Given the description of an element on the screen output the (x, y) to click on. 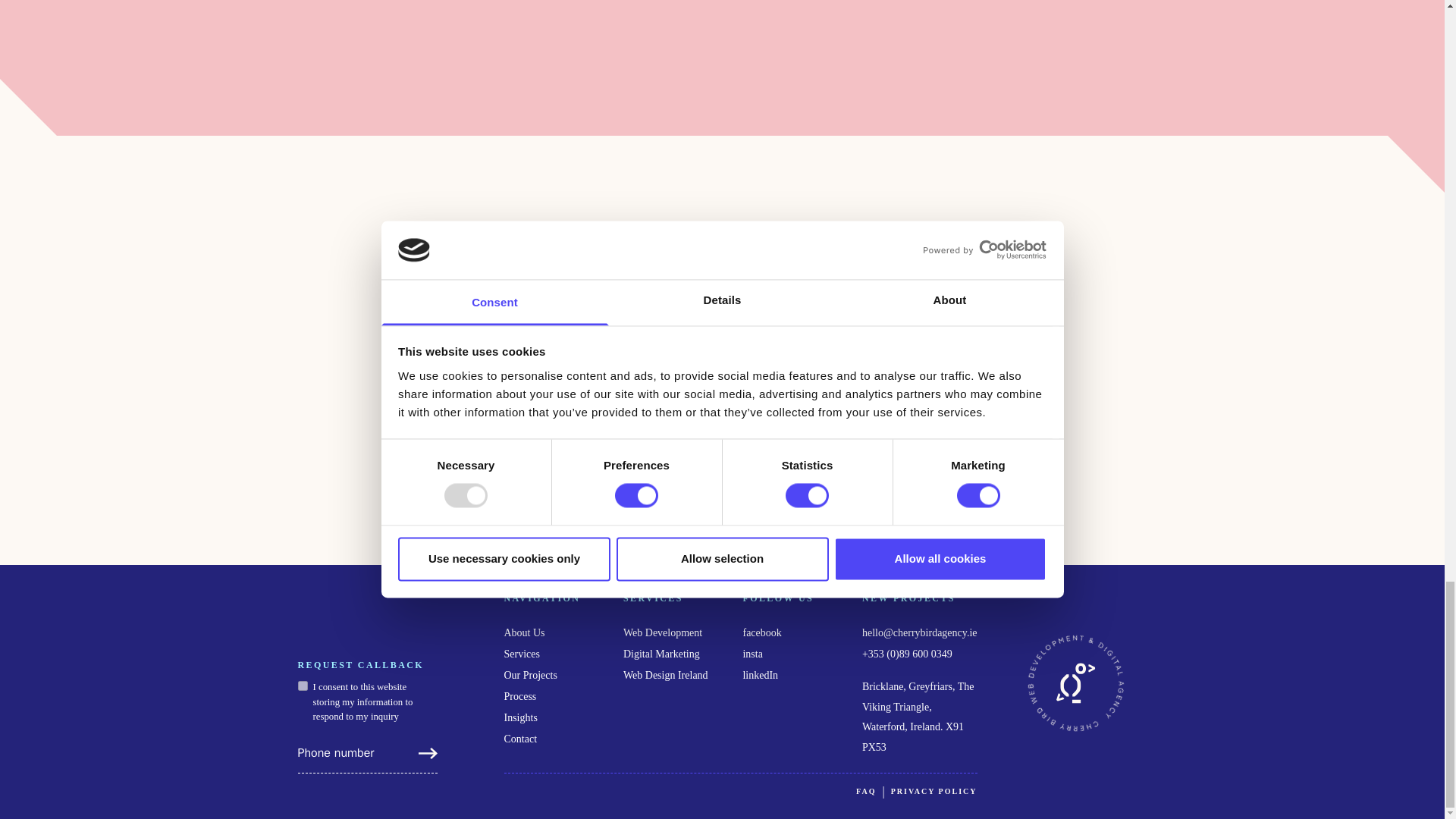
on (302, 685)
